Given the description of an element on the screen output the (x, y) to click on. 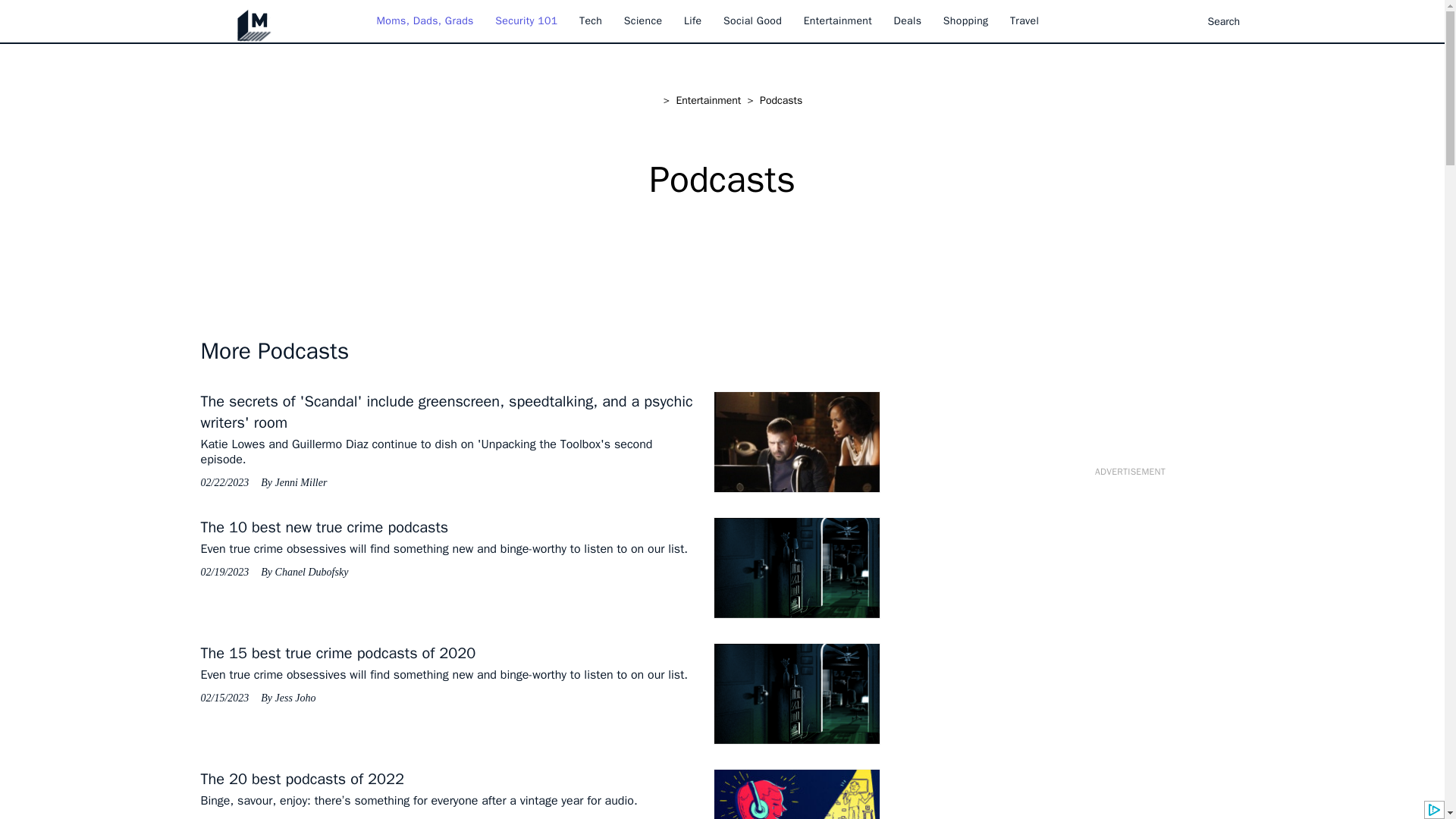
Security 101 (526, 20)
Travel (1024, 20)
Deals (907, 20)
Life (692, 20)
Entertainment (837, 20)
Tech (590, 20)
Shopping (965, 20)
Moms, Dads, Grads (424, 20)
Social Good (752, 20)
Science (643, 20)
